Given the description of an element on the screen output the (x, y) to click on. 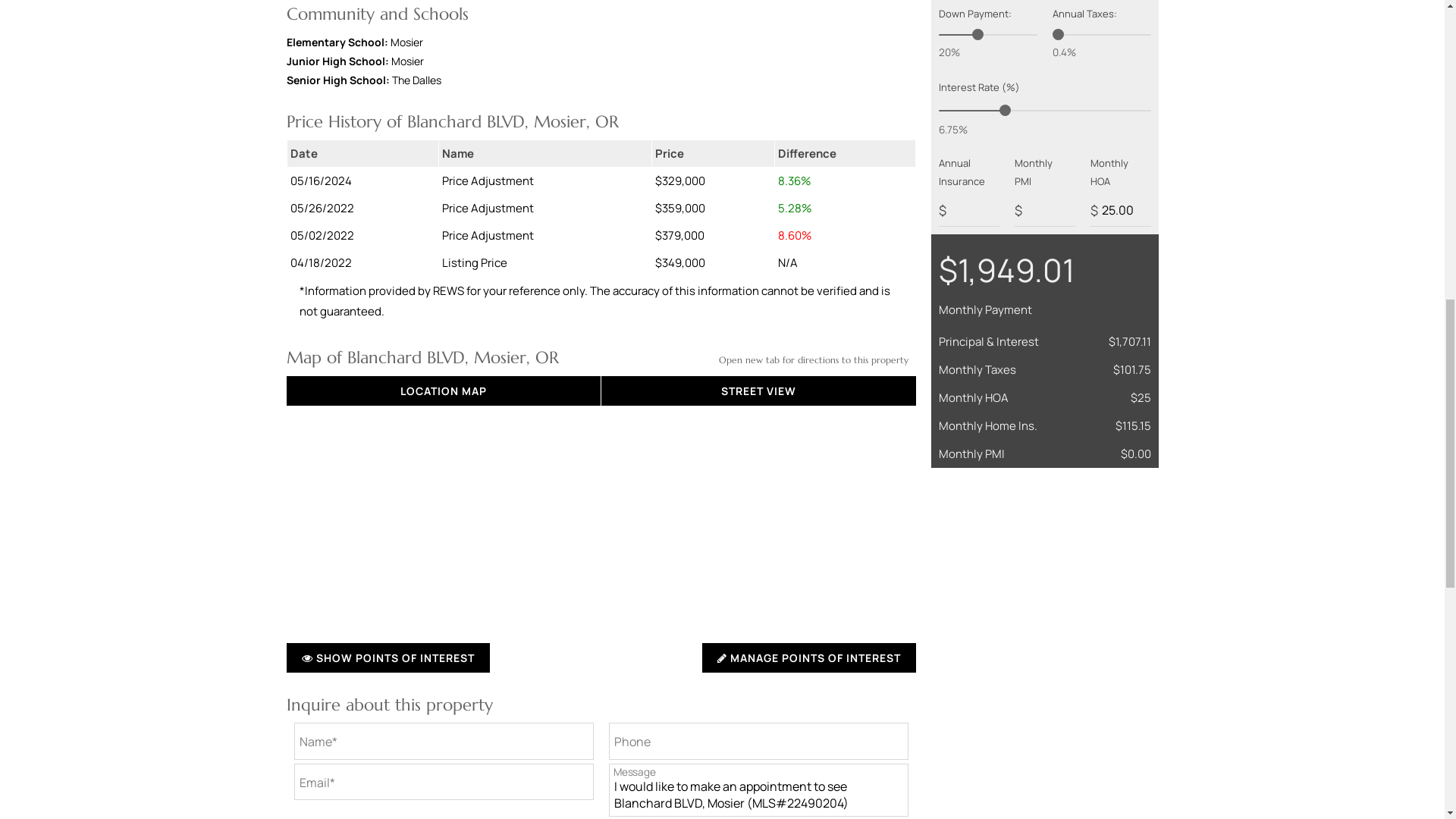
LOCATION MAP (442, 390)
25.00 (1120, 210)
Open new tab for directions to this property (813, 359)
STREET VIEW (757, 390)
SHOW POINTS OF INTEREST (387, 657)
MANAGE POINTS OF INTEREST (808, 657)
20 (987, 35)
0.4 (1101, 35)
